Given the description of an element on the screen output the (x, y) to click on. 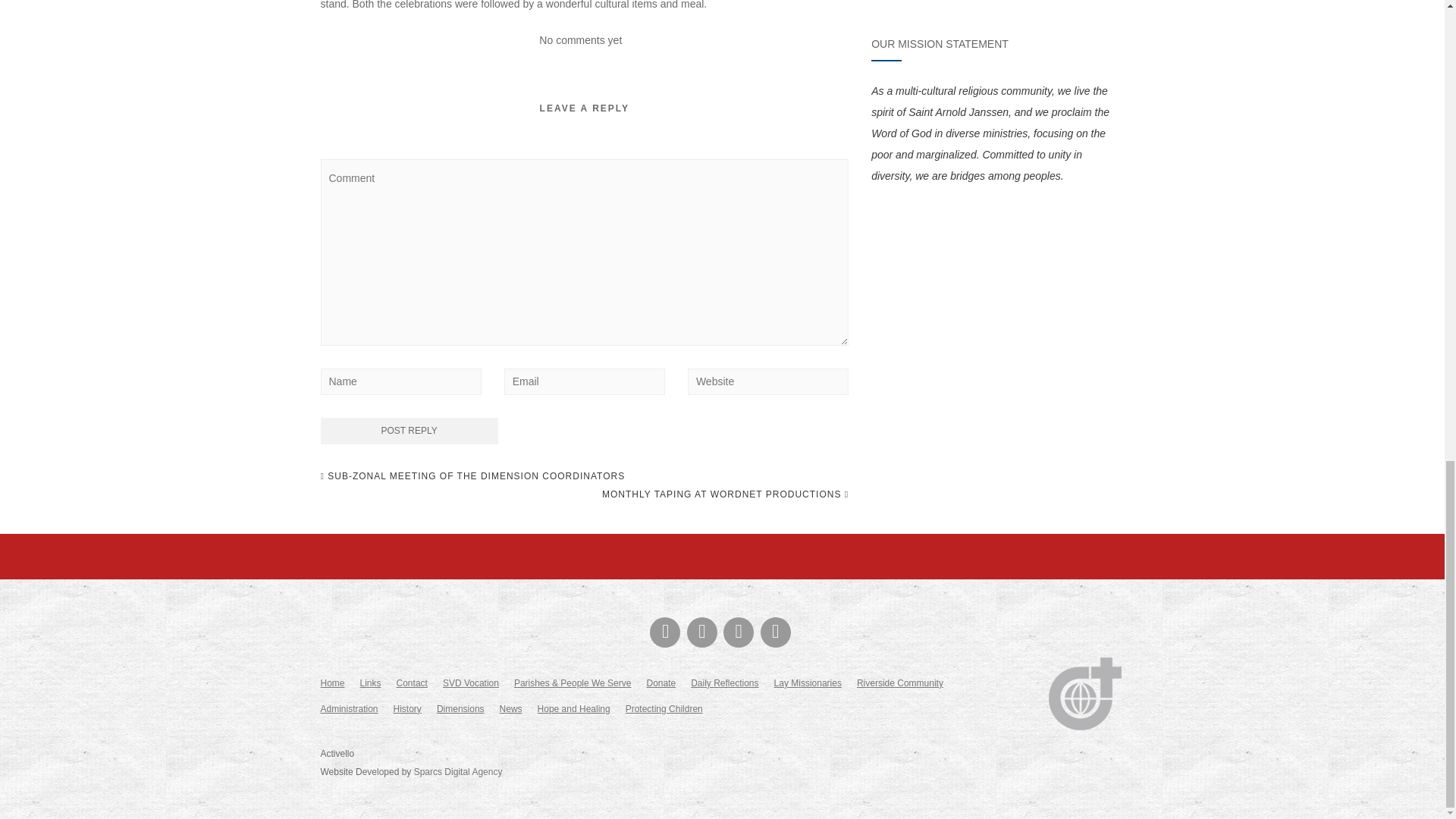
No comments yet (579, 39)
Post Reply (408, 430)
Website Developed by Sparcs Digital Agency,  (457, 771)
MONTHLY TAPING AT WORDNET PRODUCTIONS (725, 494)
SUB-ZONAL MEETING OF THE DIMENSION COORDINATORS (472, 475)
Post Reply (408, 430)
